Given the description of an element on the screen output the (x, y) to click on. 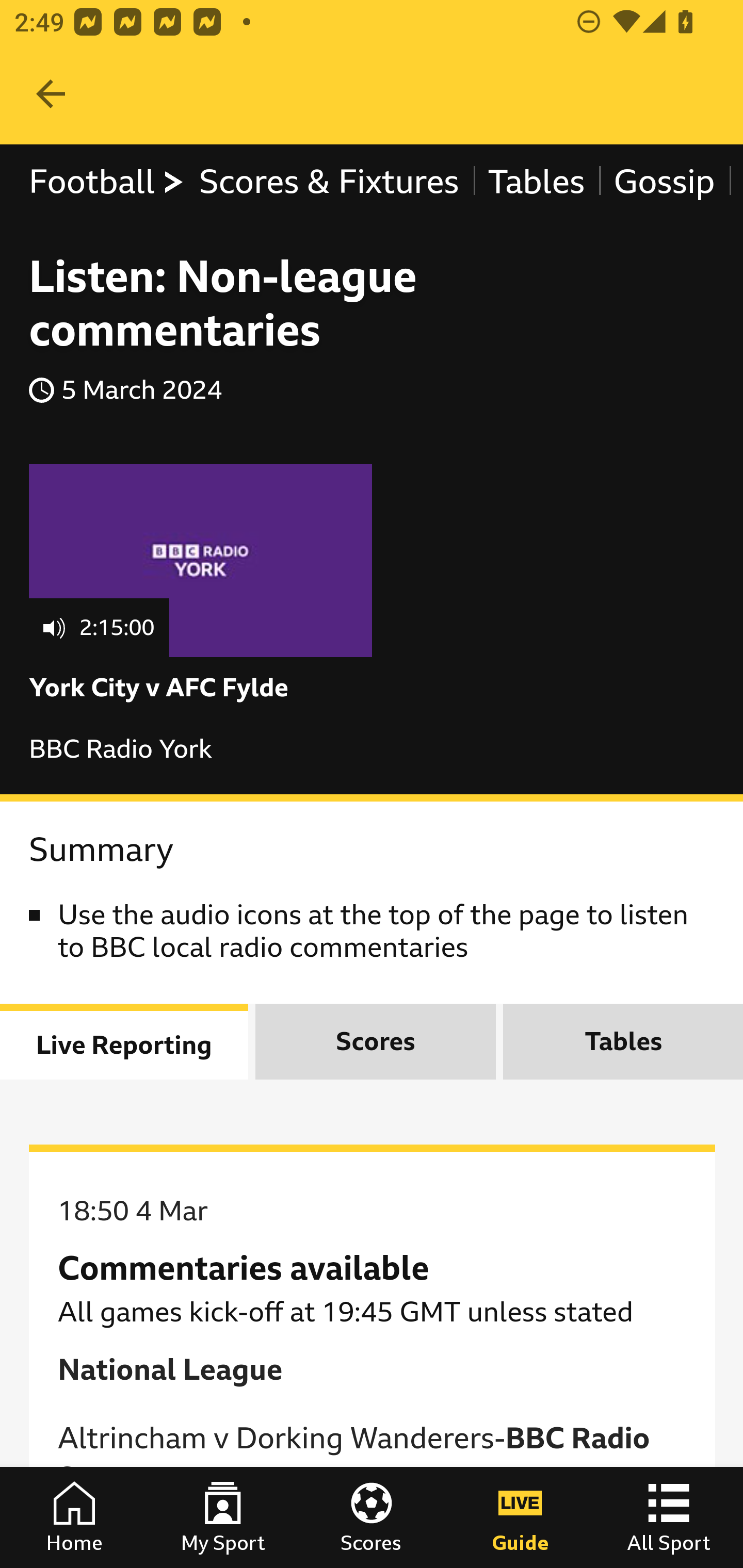
Navigate up (50, 93)
Football  (106, 181)
Scores & Fixtures (329, 181)
Tables (536, 181)
Gossip (664, 181)
Live Reporting (124, 1041)
Scores (375, 1041)
Tables (622, 1041)
Home (74, 1517)
My Sport (222, 1517)
Scores (371, 1517)
All Sport (668, 1517)
